Given the description of an element on the screen output the (x, y) to click on. 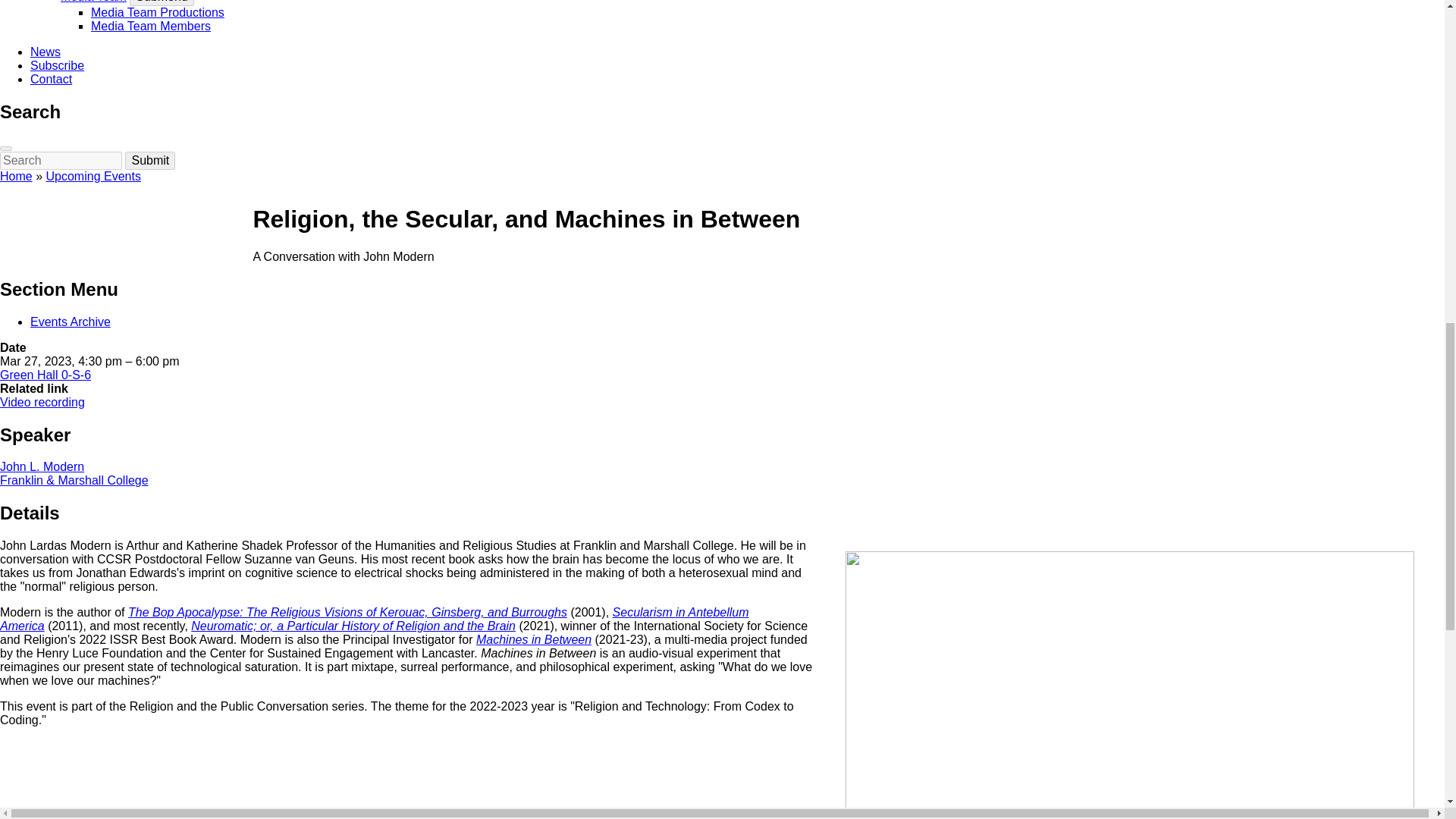
Submit (149, 160)
